Given the description of an element on the screen output the (x, y) to click on. 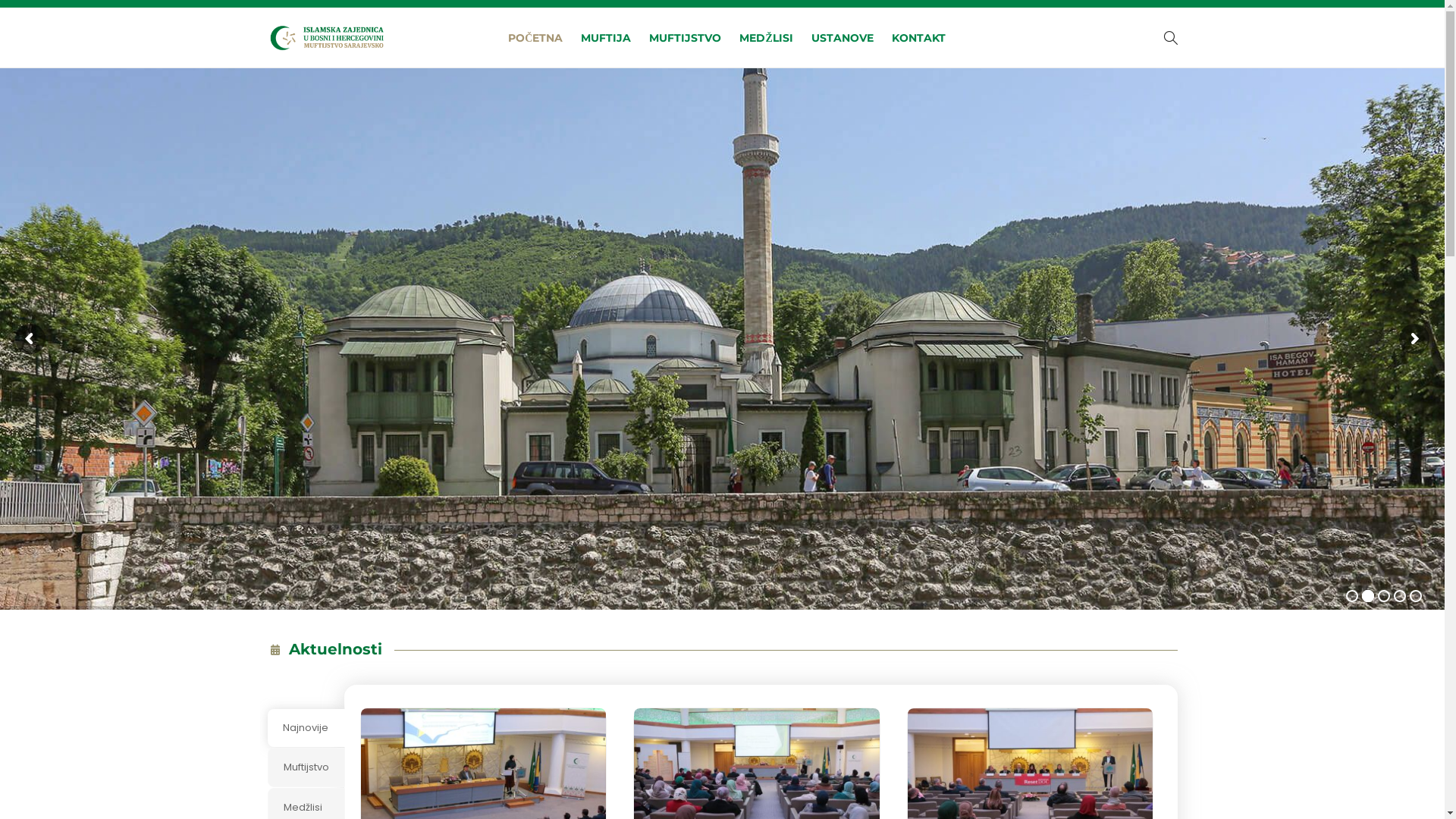
Muftijstvo Element type: text (305, 767)
MUFTIJSTVO Element type: text (685, 37)
USTANOVE Element type: text (842, 37)
KONTAKT Element type: text (918, 37)
MUFTIJA Element type: text (605, 37)
Najnovije Element type: text (305, 727)
